Given the description of an element on the screen output the (x, y) to click on. 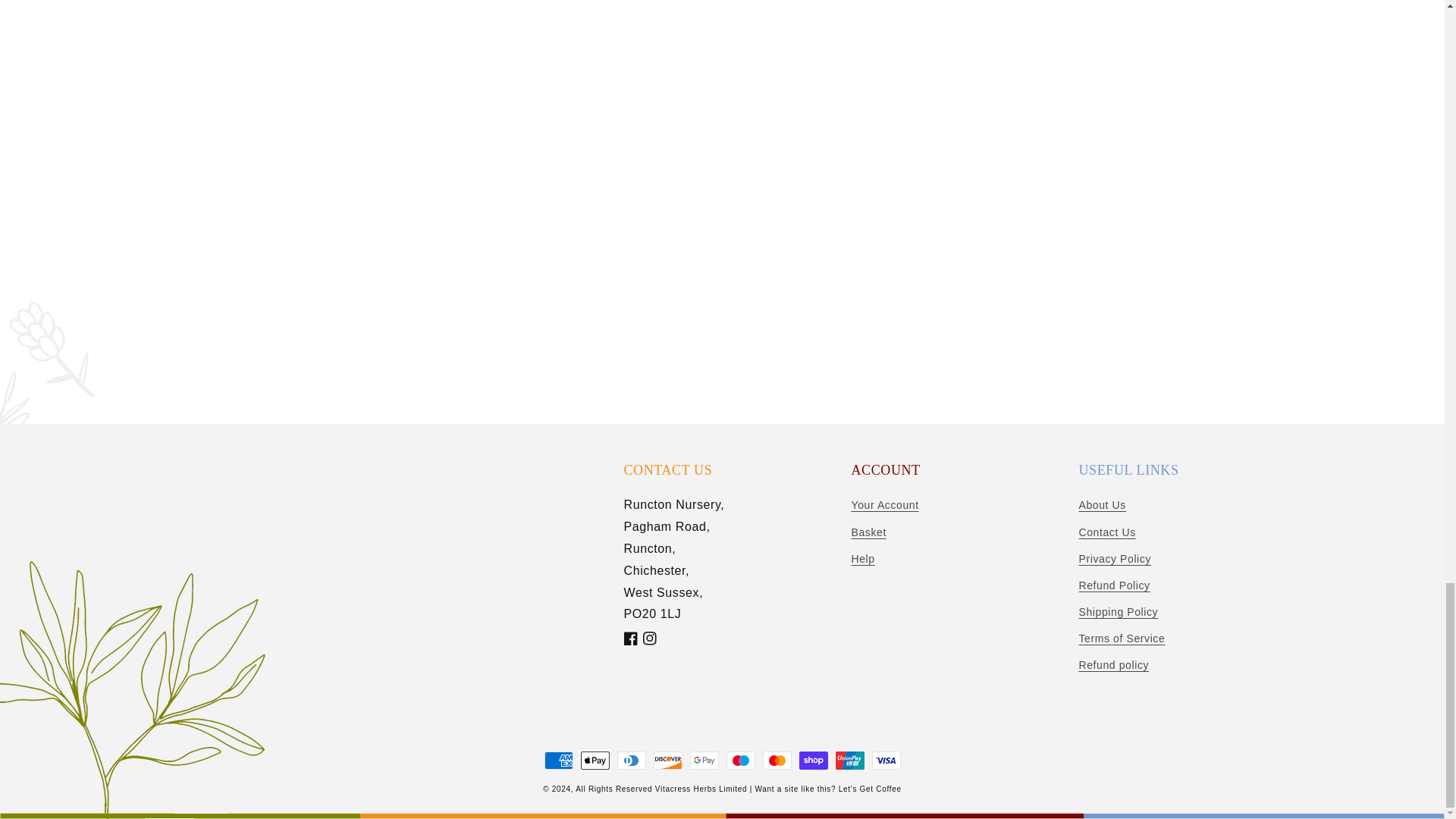
Web Designers Chichester (869, 788)
